Given the description of an element on the screen output the (x, y) to click on. 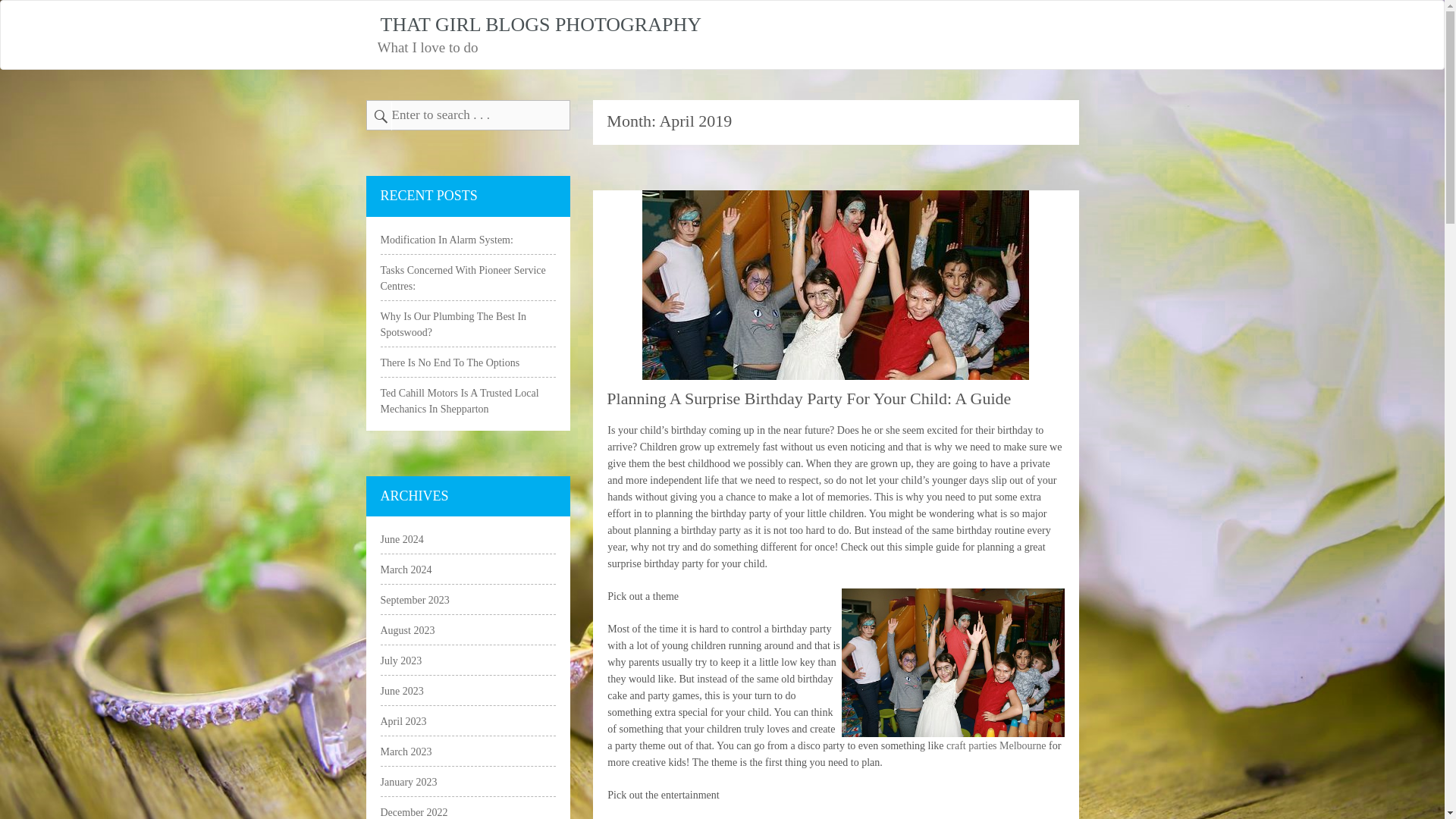
January 2023 (409, 781)
April 2023 (403, 721)
September 2023 (414, 600)
March 2024 (406, 569)
August 2023 (407, 630)
That Girl Blogs Photography (539, 34)
June 2024 (401, 539)
Why Is Our Plumbing The Best In Spotswood? (453, 324)
December 2022 (414, 812)
